Given the description of an element on the screen output the (x, y) to click on. 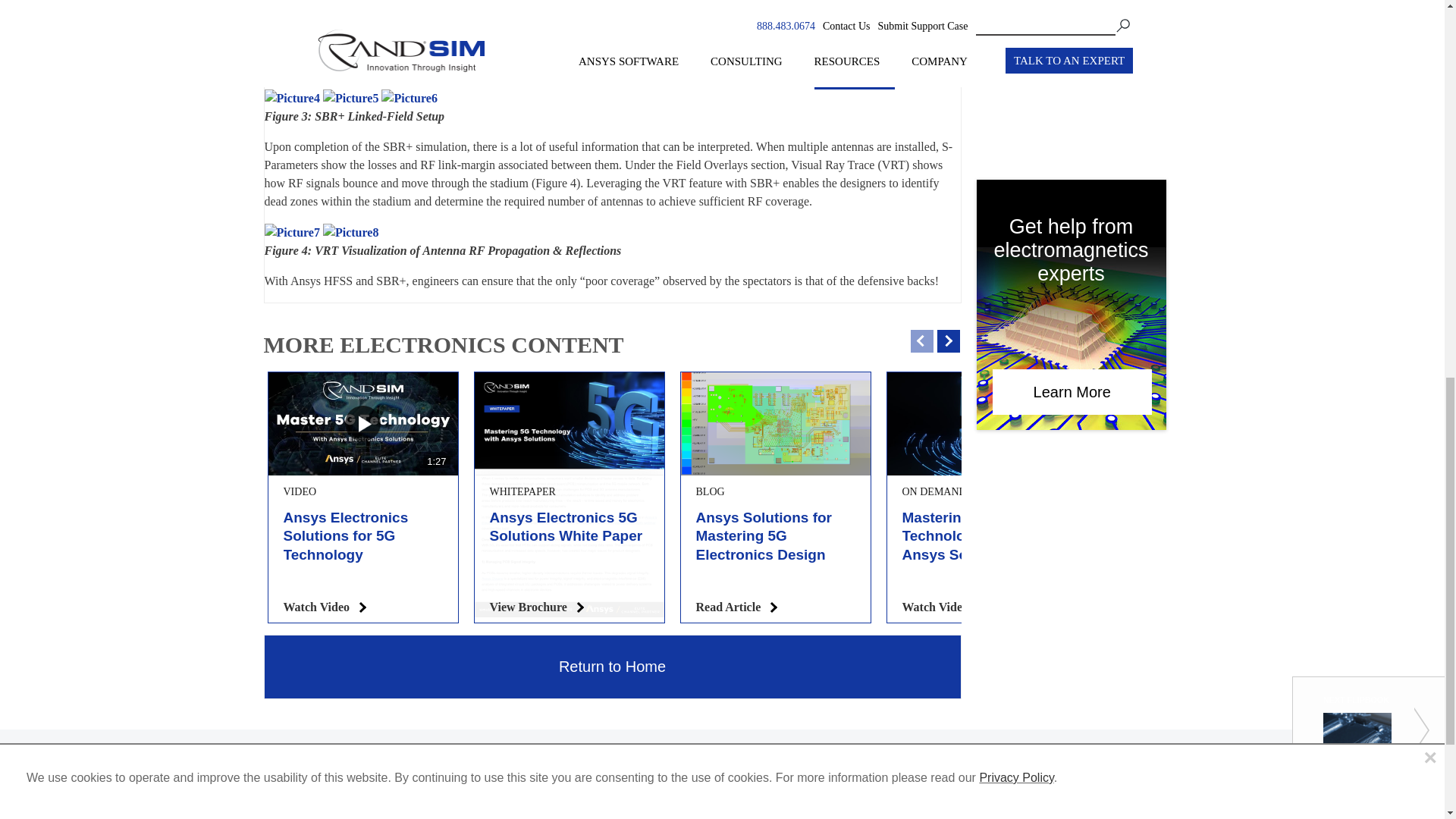
Picture4 (290, 98)
Picture8 (350, 232)
Picture6 (408, 98)
Picture5 (350, 98)
Picture7 (290, 232)
